Given the description of an element on the screen output the (x, y) to click on. 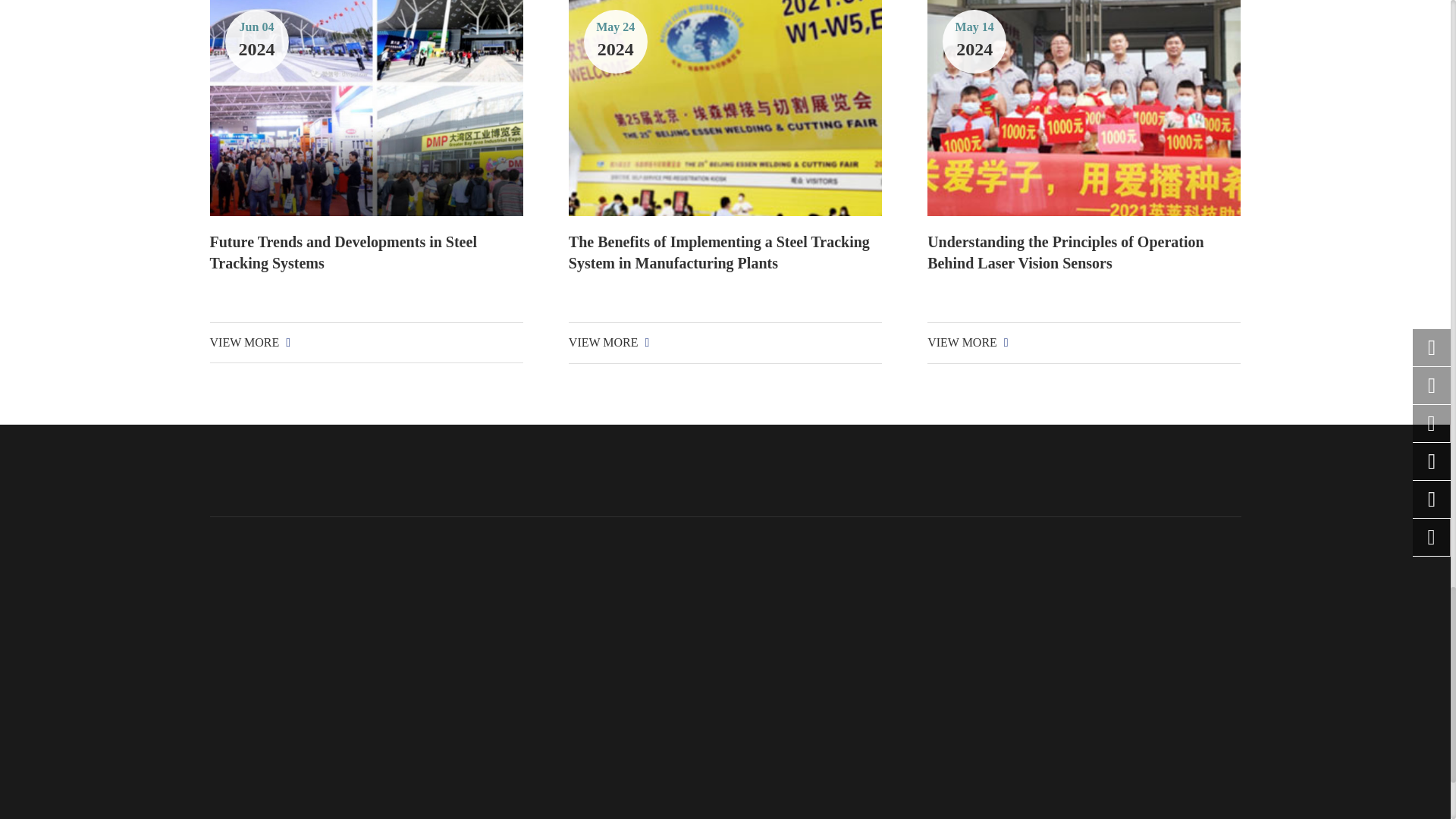
Future Trends and Developments in Steel Tracking Systems (365, 107)
